Given the description of an element on the screen output the (x, y) to click on. 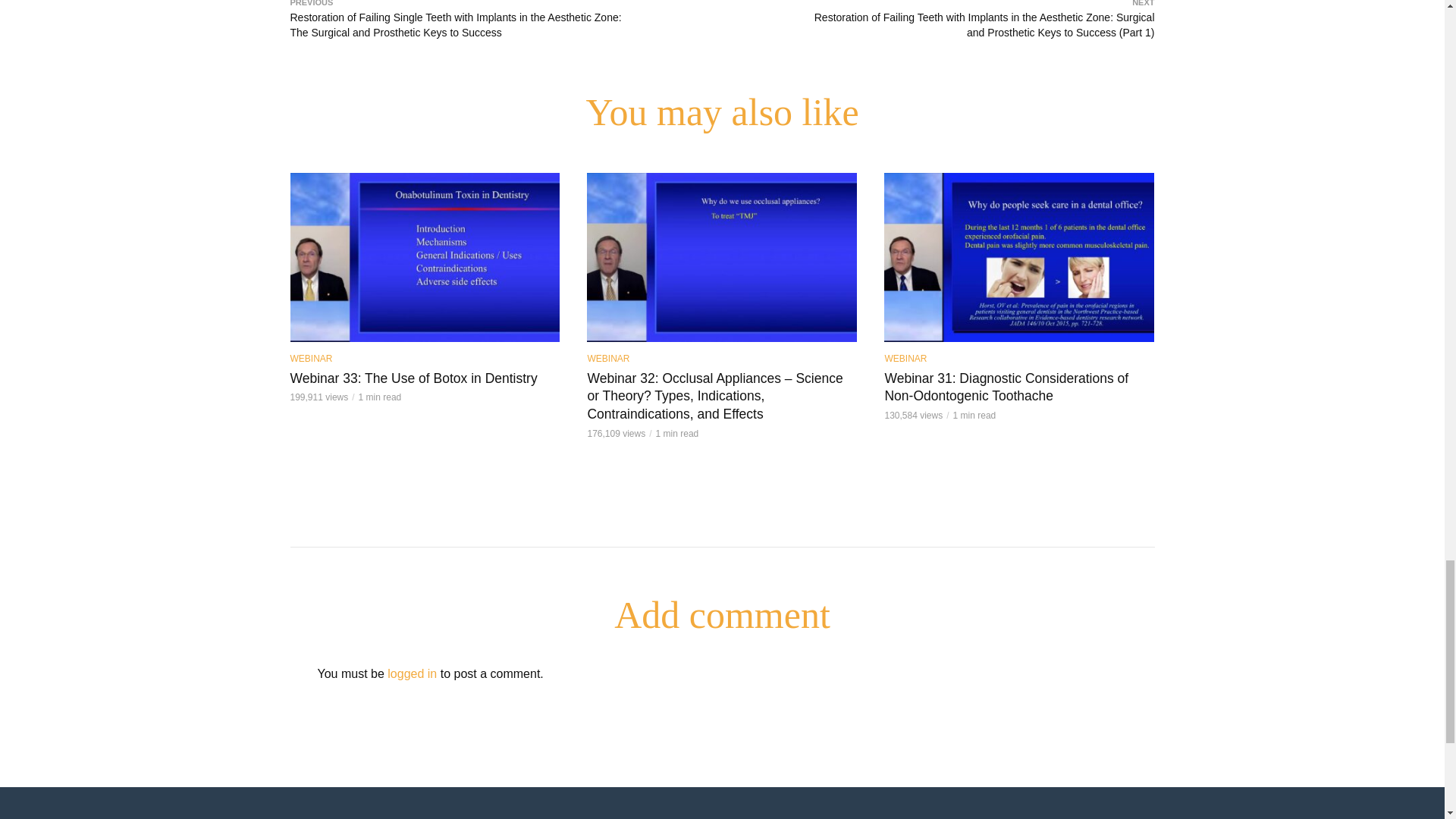
Webinar 33: The Use of Botox in Dentistry (424, 256)
